Given the description of an element on the screen output the (x, y) to click on. 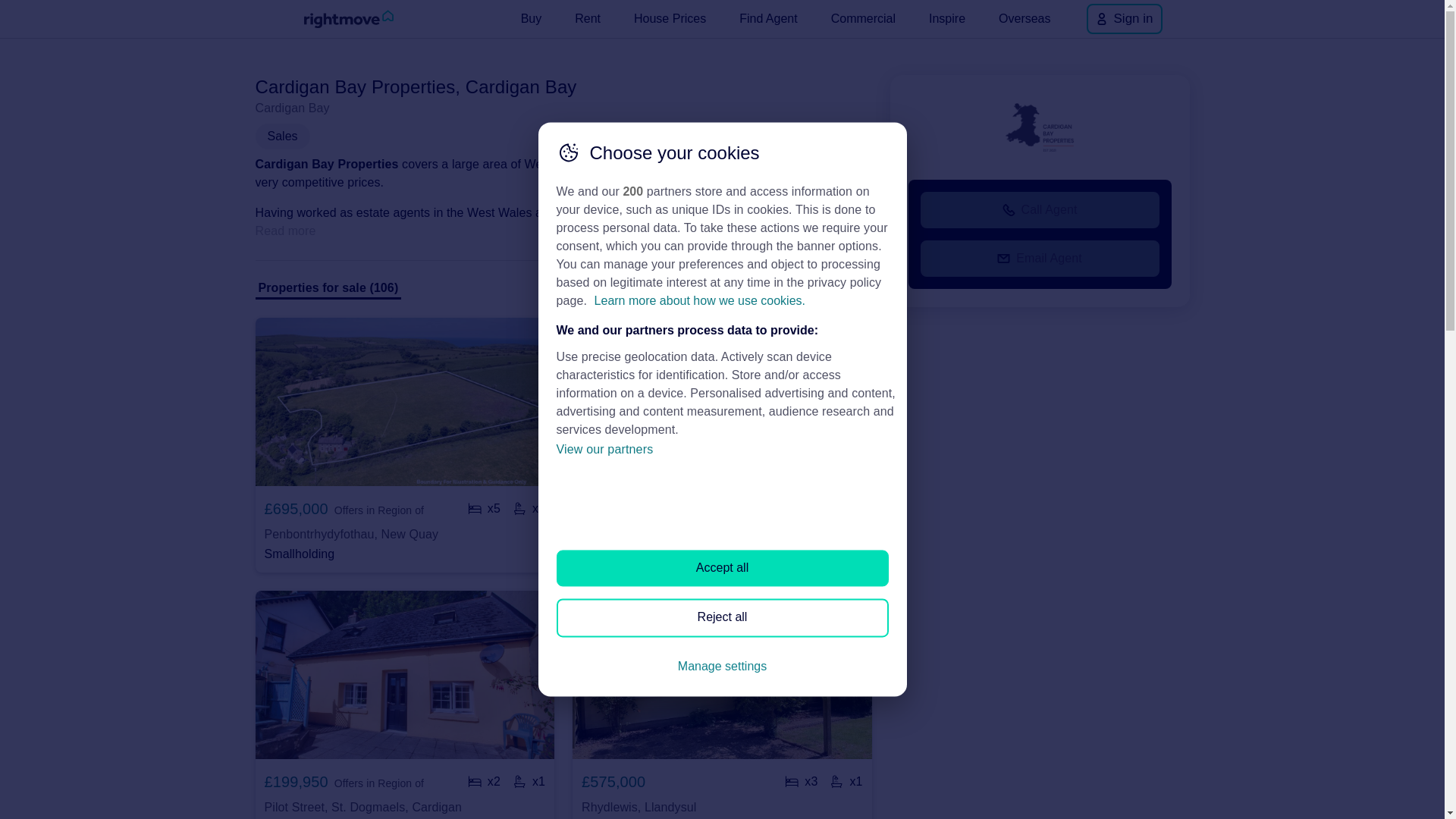
Commercial (863, 18)
House Prices (669, 18)
Overseas (1024, 18)
Buy (531, 18)
Inspire (947, 18)
Find Agent (768, 18)
Rent (588, 18)
